Given the description of an element on the screen output the (x, y) to click on. 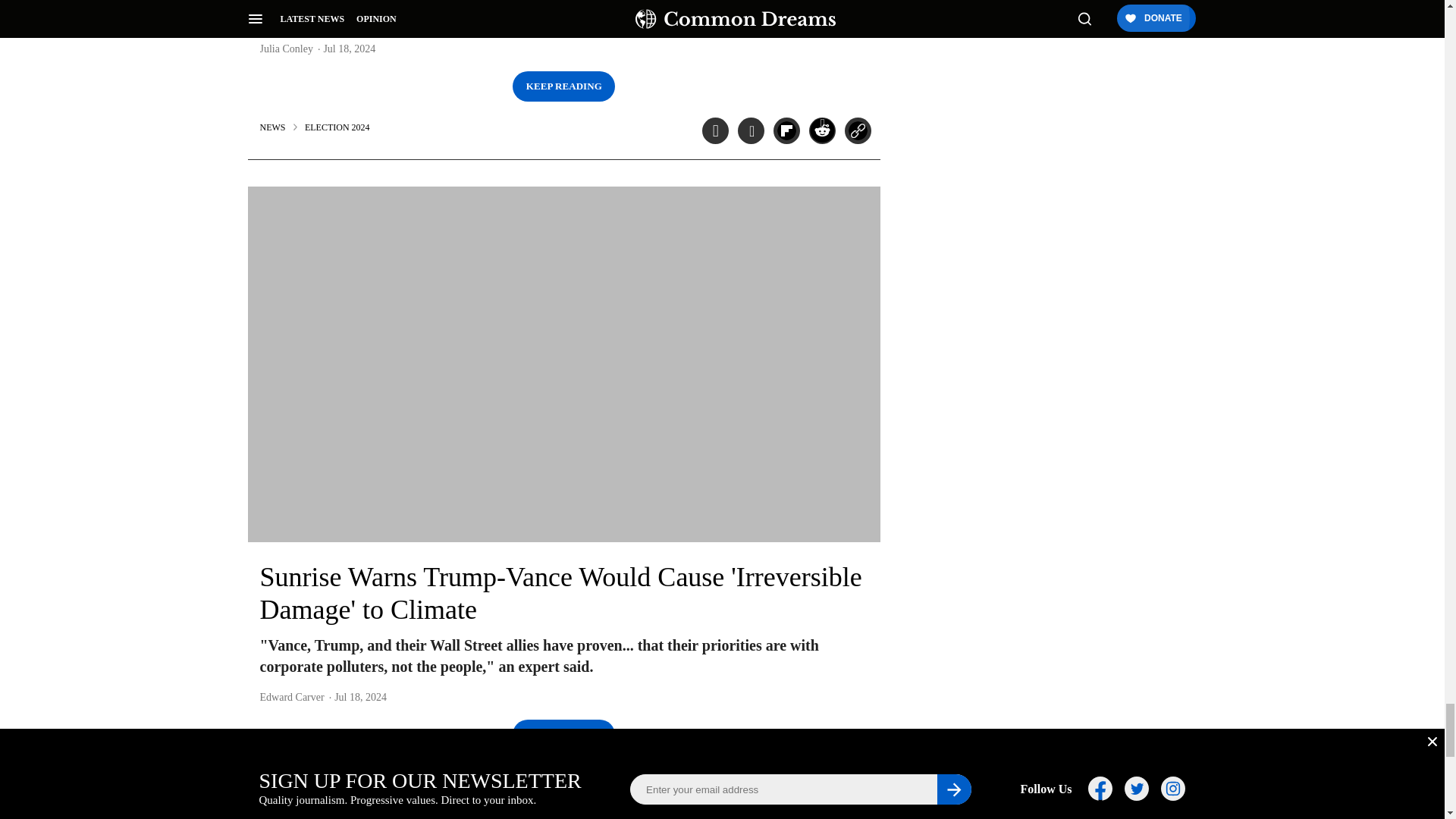
Copy this link to clipboard (857, 778)
Copy this link to clipboard (857, 130)
